Given the description of an element on the screen output the (x, y) to click on. 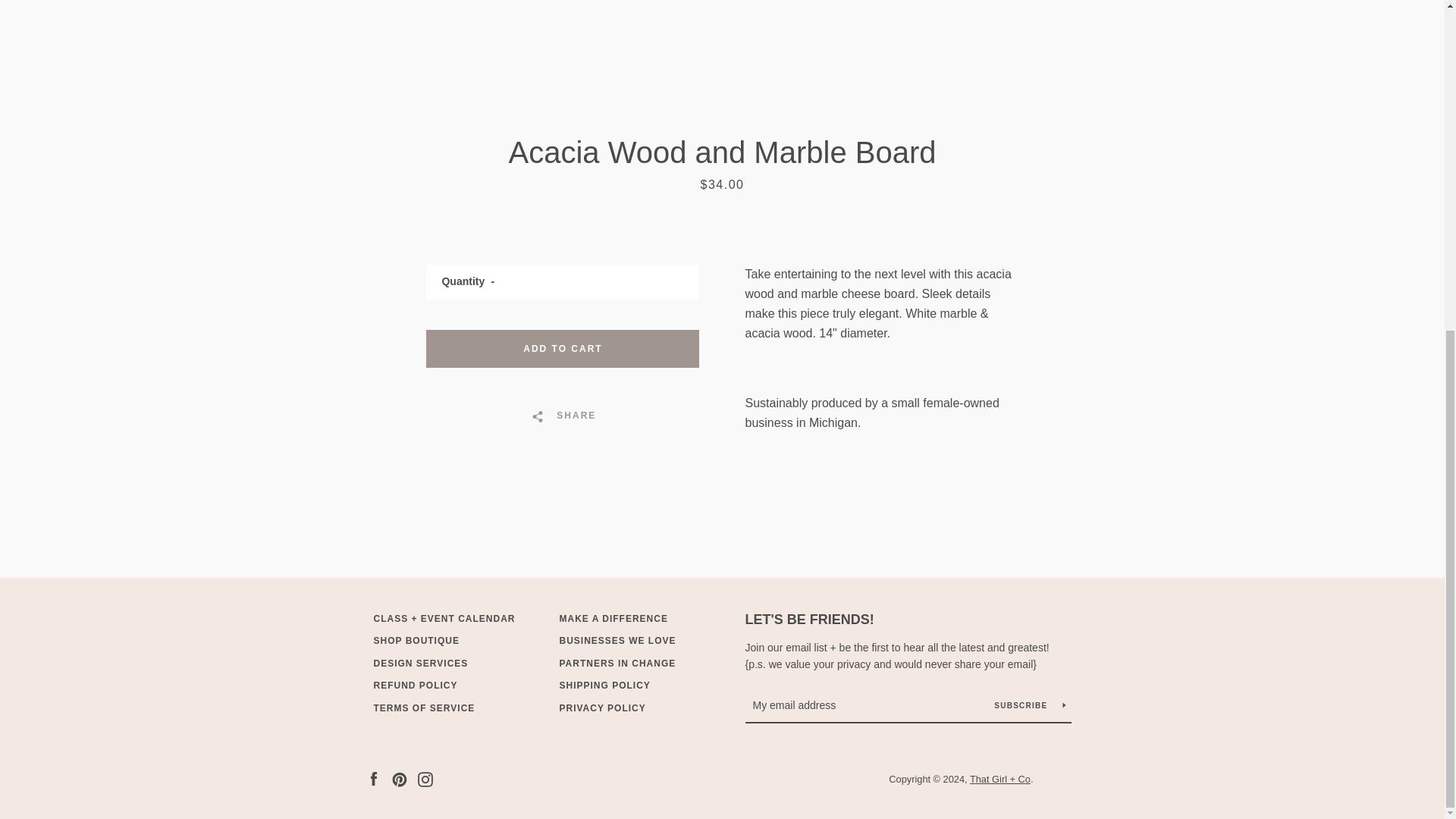
SHOP BOUTIQUE (415, 640)
REFUND POLICY (414, 685)
ADD TO CART (562, 348)
SHARE (563, 415)
DESIGN SERVICES (419, 663)
